Given the description of an element on the screen output the (x, y) to click on. 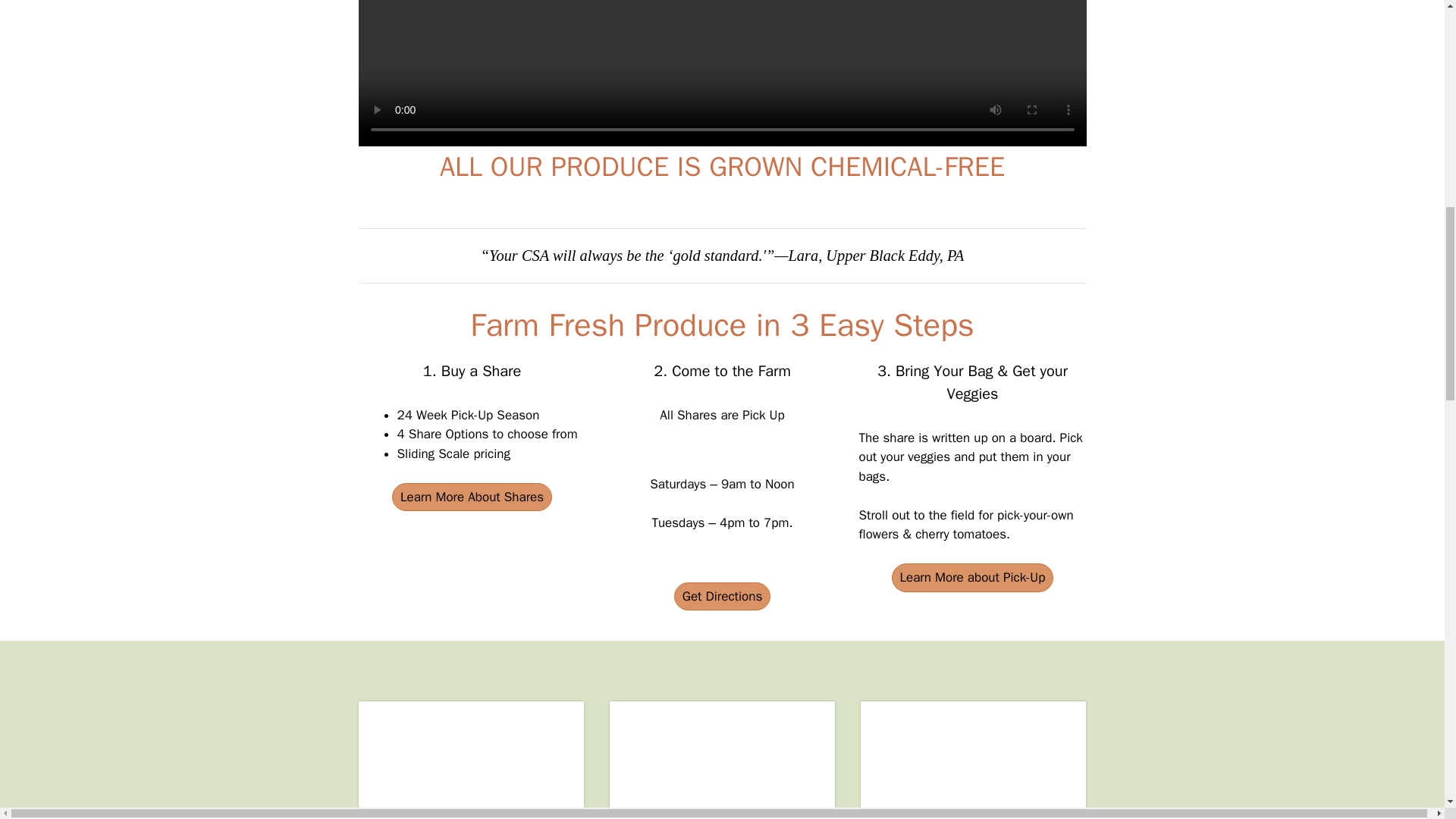
Learn More about Pick-Up (972, 577)
Farm Fresh Produce in 3 Easy Steps (722, 324)
Get Directions (722, 596)
Learn More About Shares (471, 497)
ALL OUR PRODUCE IS GROWN CHEMICAL-FREE (721, 166)
